Given the description of an element on the screen output the (x, y) to click on. 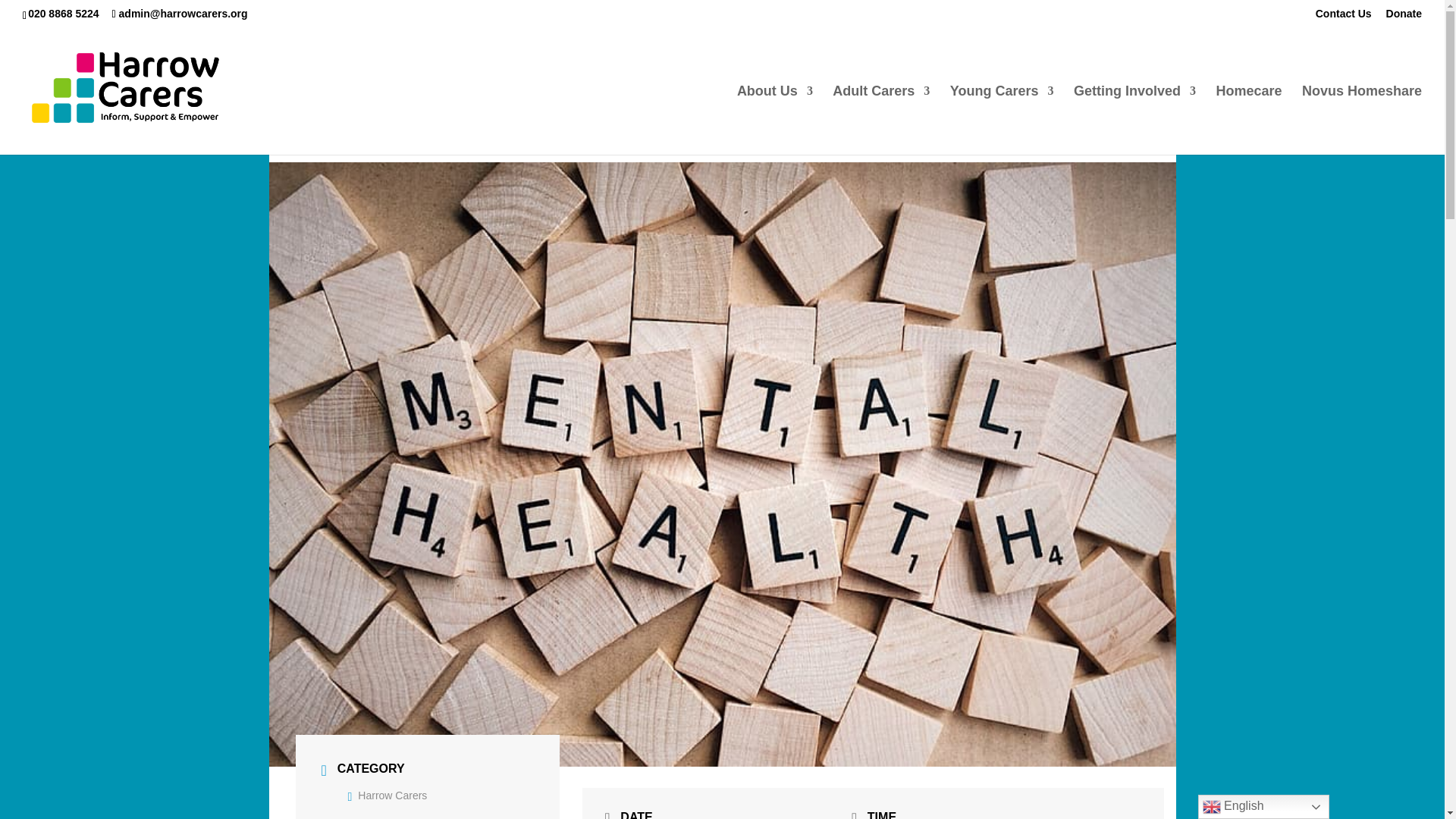
Contact Us (1343, 16)
Getting Involved (1134, 119)
Donate (1404, 16)
Homecare (1248, 119)
Young Carers (1002, 119)
Adult Carers (881, 119)
About Us (774, 119)
Novus Homeshare (1361, 119)
